Given the description of an element on the screen output the (x, y) to click on. 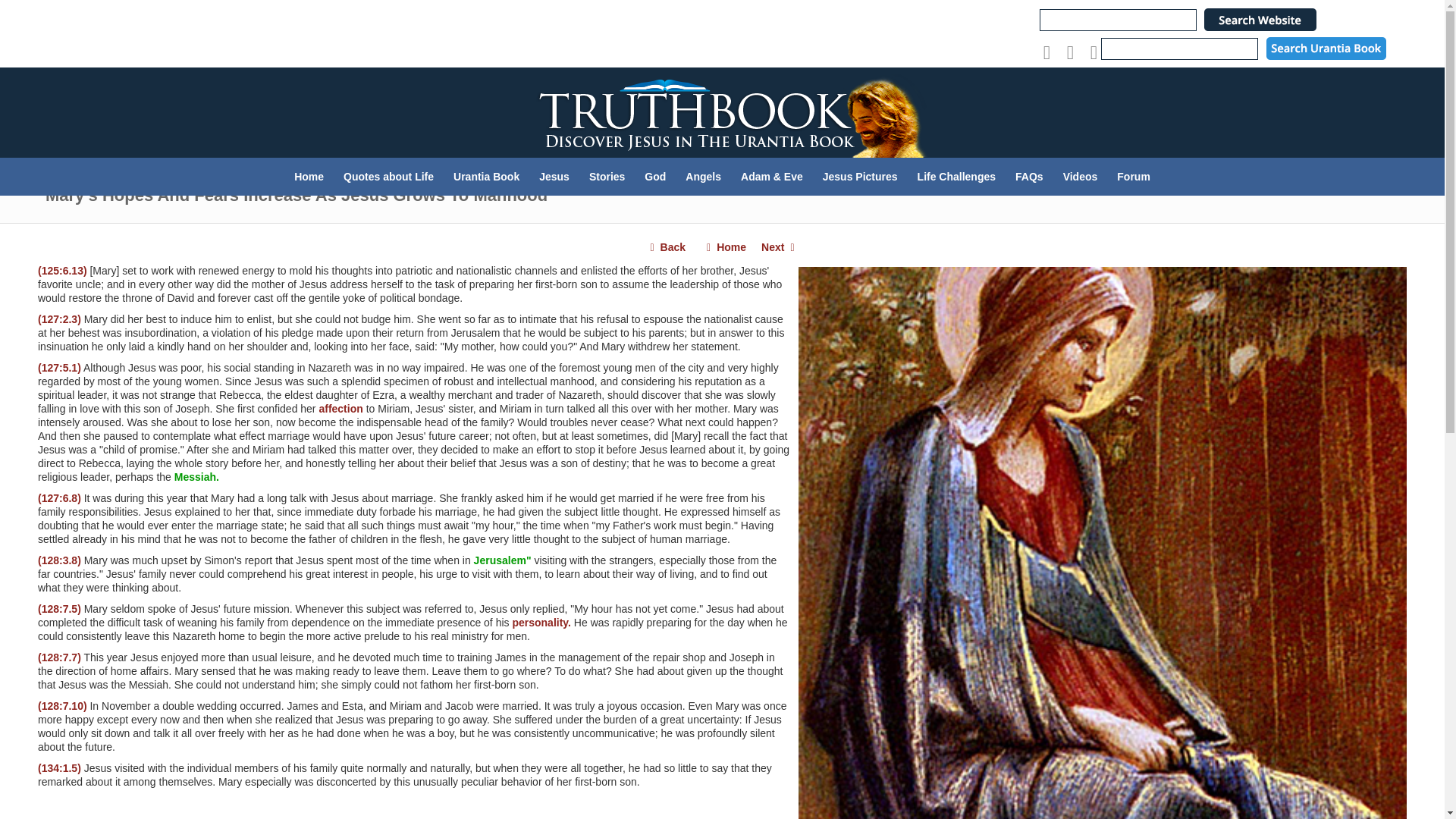
Quotes about Life (388, 176)
Urantia Book (486, 176)
TruthbookLogoRightWhite594x119 (722, 112)
Stories (606, 176)
Jesus (554, 176)
Home (308, 176)
